Given the description of an element on the screen output the (x, y) to click on. 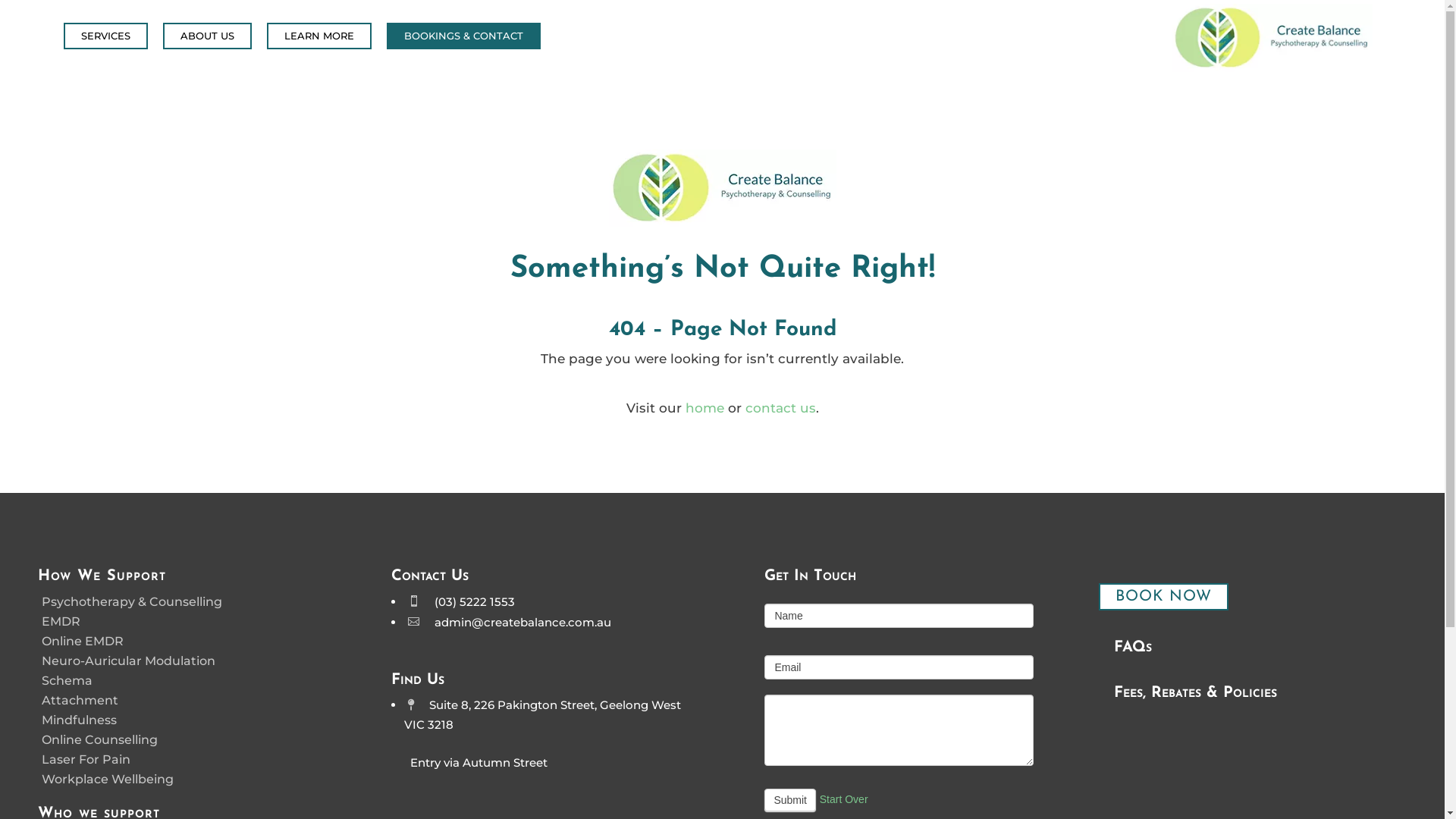
Laser For Pain Element type: text (85, 759)
Submit Element type: text (789, 799)
home Element type: text (704, 407)
Psychotherapy & Counselling Element type: text (131, 601)
geelong-psychotherapy-counselling-landscape Element type: hover (721, 187)
ABOUT US Element type: text (206, 35)
BOOK NOW Element type: text (1163, 596)
Online EMDR Element type: text (82, 640)
Start Over Element type: text (843, 799)
Neuro-Auricular Modulation Element type: text (128, 660)
EMDR Element type: text (60, 621)
SERVICES Element type: text (105, 35)
Mindfulness Element type: text (78, 719)
contact us Element type: text (779, 407)
Workplace Wellbeing Element type: text (107, 778)
LEARN MORE Element type: text (318, 35)
BOOKINGS & CONTACT Element type: text (463, 35)
Schema Element type: text (66, 680)
Online Counselling Element type: text (99, 739)
Attachment Element type: text (79, 700)
